Given the description of an element on the screen output the (x, y) to click on. 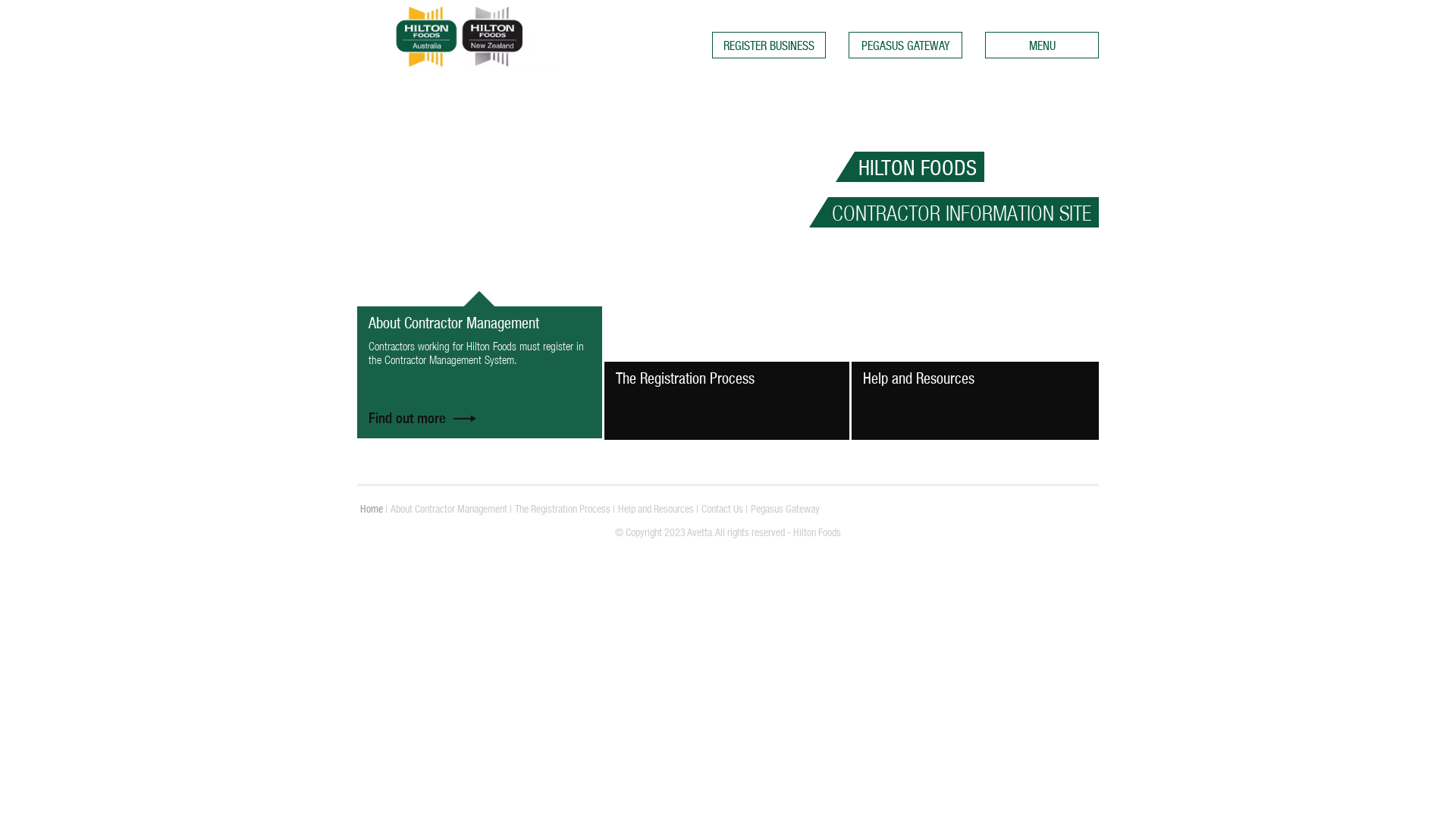
Pegasus Gateway Element type: text (784, 508)
Contact Us Element type: text (722, 508)
MENU Element type: text (1041, 44)
Help and Resources Element type: text (655, 508)
The Registration Process Element type: text (562, 508)
PEGASUS GATEWAY Element type: text (905, 44)
Hilton Foods Contractors Element type: text (584, 35)
Home Element type: text (371, 508)
REGISTER BUSINESS Element type: text (768, 44)
Find out more Element type: text (424, 414)
About Contractor Management Element type: text (448, 508)
